Given the description of an element on the screen output the (x, y) to click on. 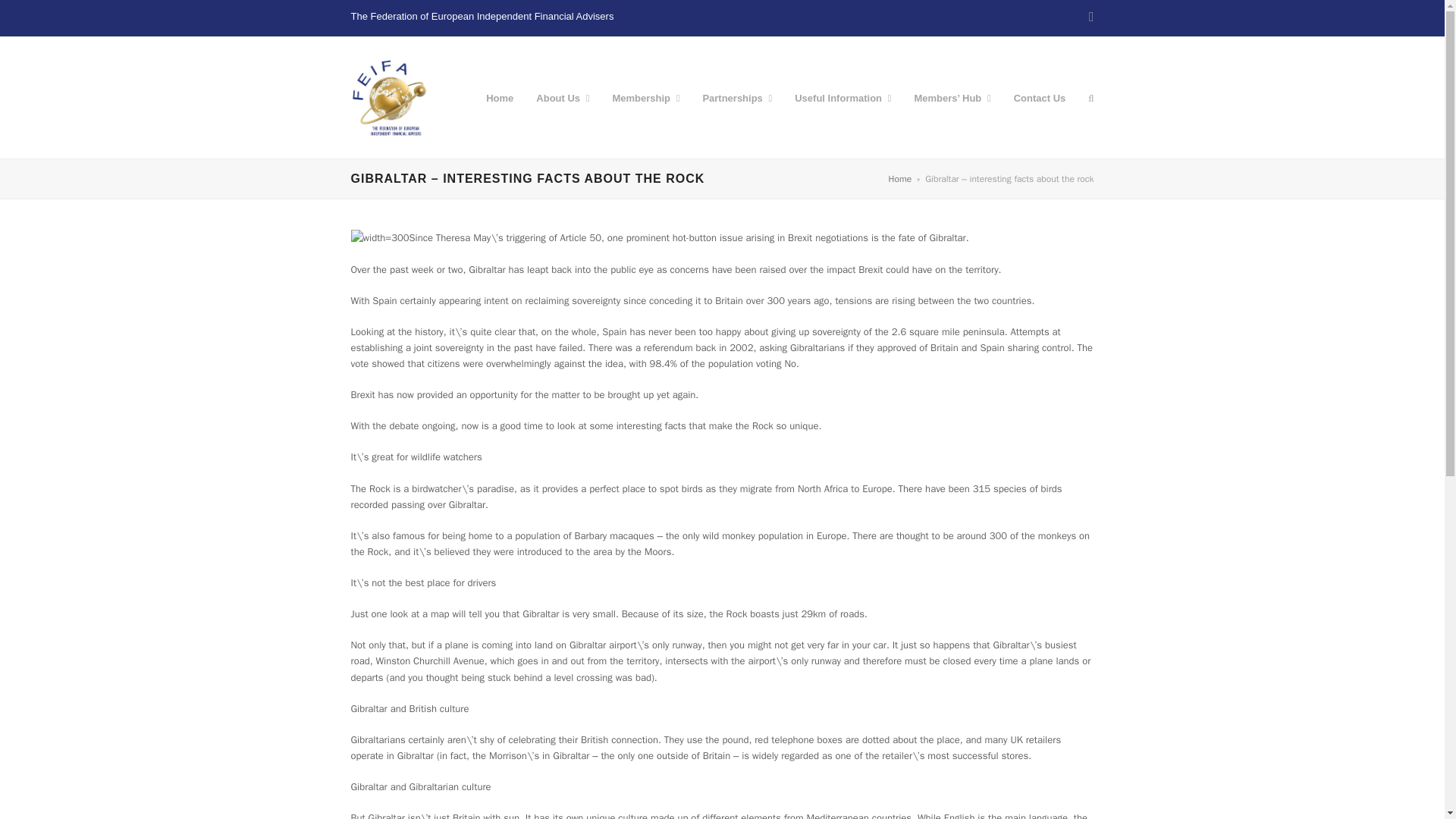
Membership (644, 97)
Contact Us (1040, 97)
Partnerships (736, 97)
Home (900, 178)
Home (499, 97)
About Us (561, 97)
Email (1091, 16)
Useful Information (842, 97)
